Given the description of an element on the screen output the (x, y) to click on. 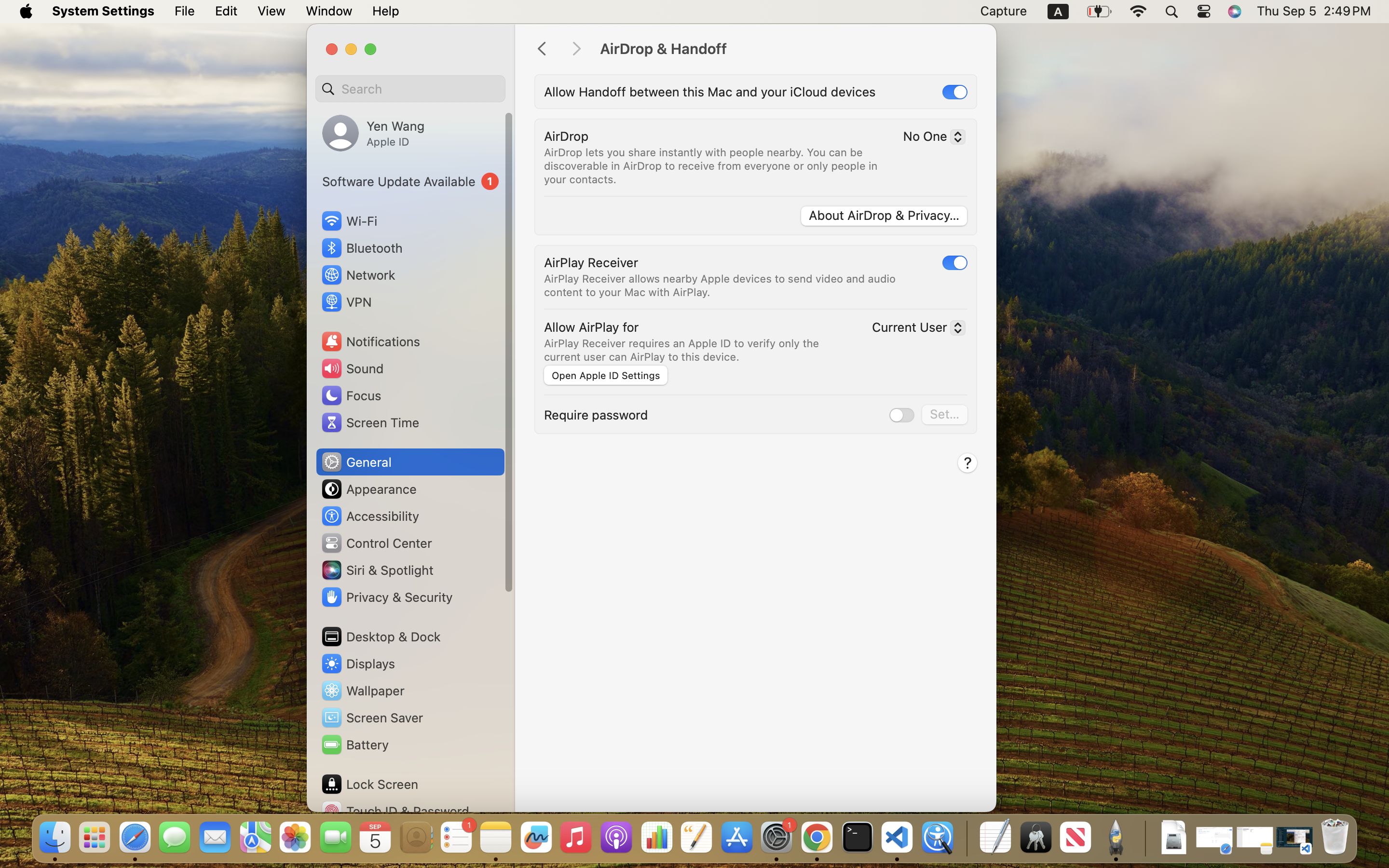
Wi‑Fi Element type: AXStaticText (348, 220)
Screen Time Element type: AXStaticText (369, 422)
General Element type: AXStaticText (355, 461)
1 Element type: AXCheckBox (954, 91)
Network Element type: AXStaticText (357, 274)
